Given the description of an element on the screen output the (x, y) to click on. 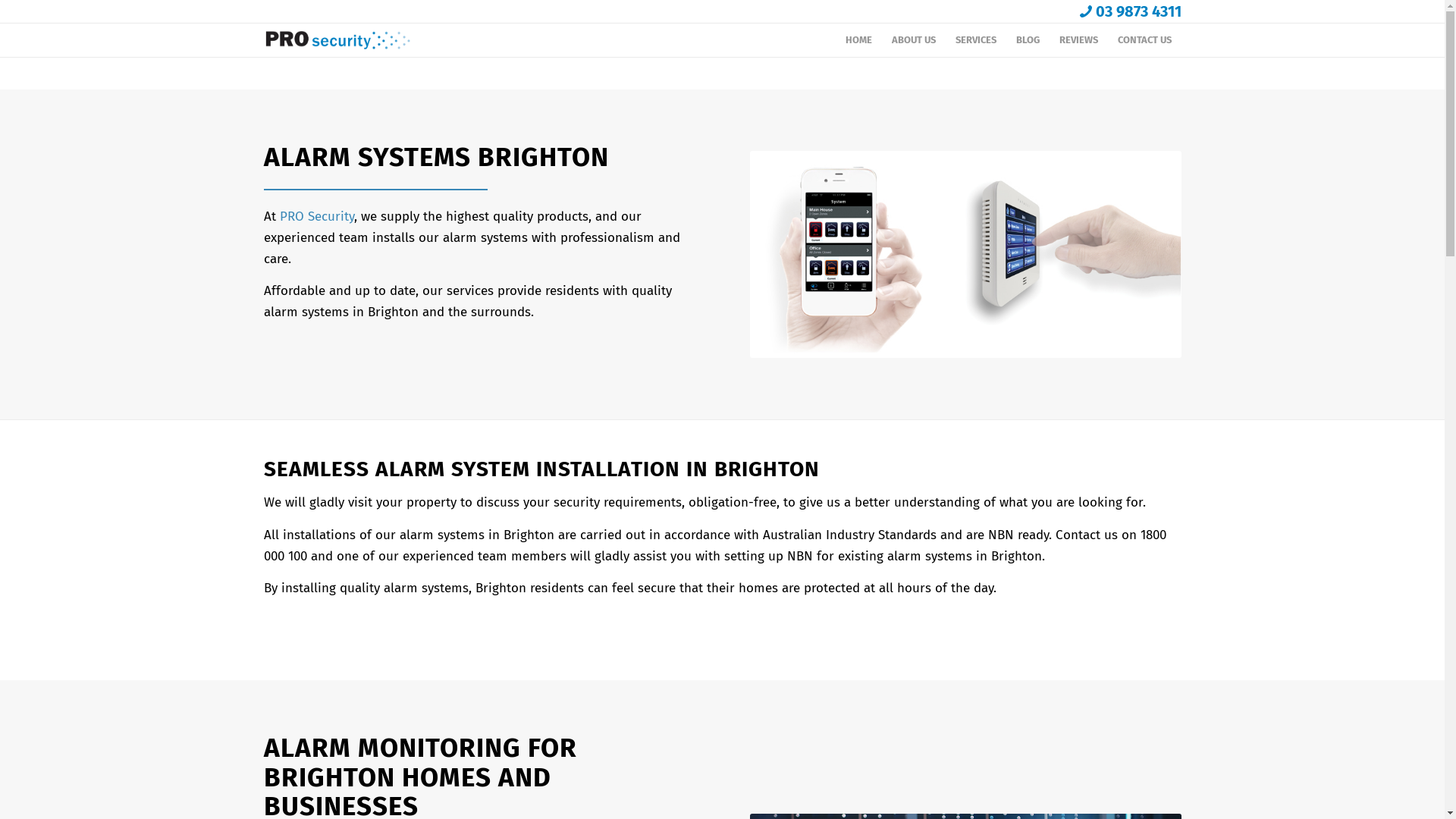
HOME Element type: text (858, 39)
BLOG Element type: text (1026, 39)
SERVICES Element type: text (974, 39)
ABOUT US Element type: text (912, 39)
REVIEWS Element type: text (1078, 39)
alarm-systems Element type: hover (965, 253)
PRO Security Element type: text (316, 215)
CONTACT US Element type: text (1143, 39)
